Given the description of an element on the screen output the (x, y) to click on. 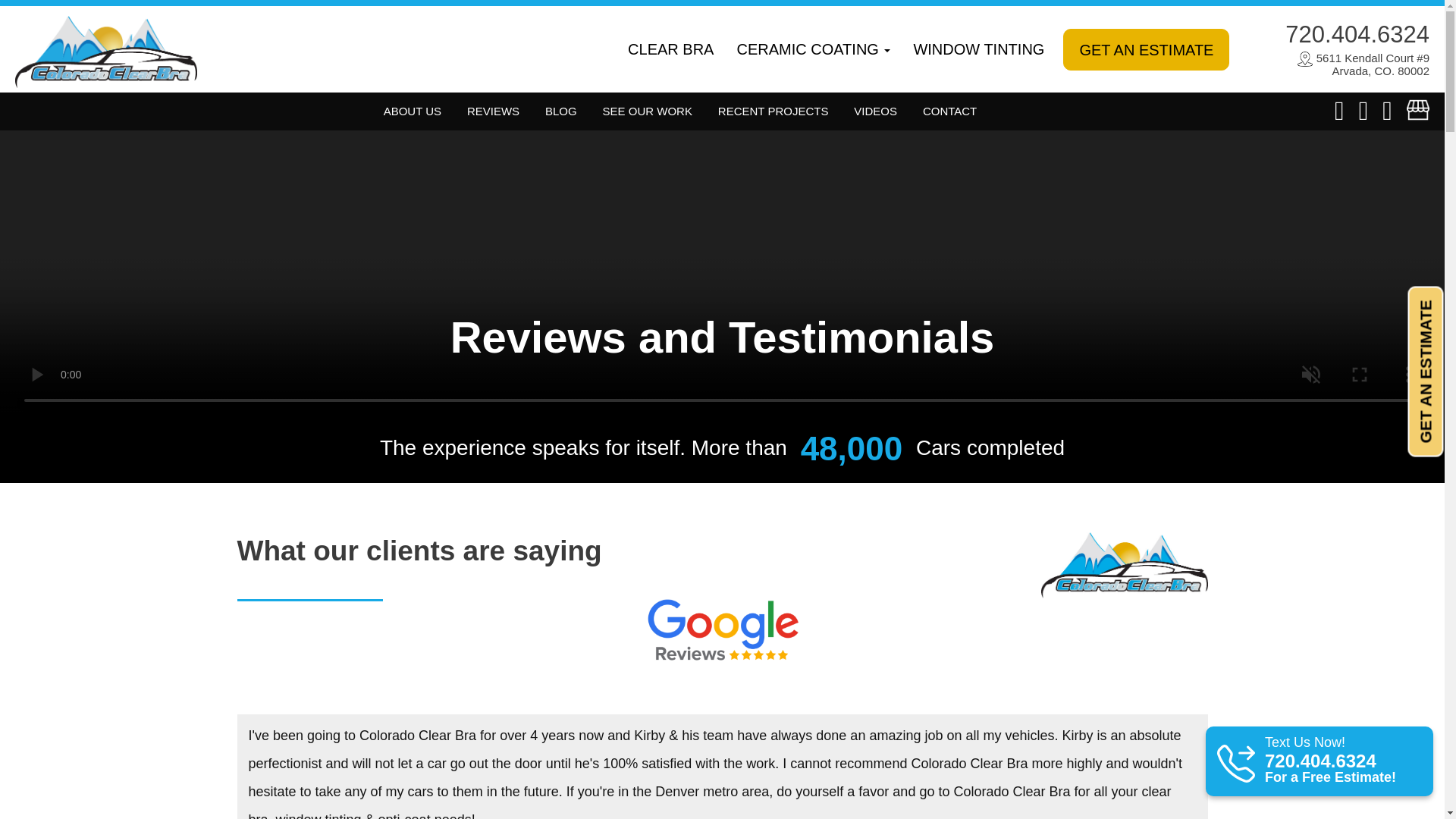
GET AN ESTIMATE (1145, 49)
Window Tinting Service (978, 49)
720.404.6324 (1357, 34)
CLEAR BRA (670, 49)
REVIEWS (493, 111)
WINDOW TINTING (978, 49)
SEE OUR WORK (647, 111)
CERAMIC COATING (813, 49)
BLOG (561, 111)
ABOUT US (412, 111)
VIDEOS (875, 111)
Home (105, 48)
RECENT PROJECTS (773, 111)
CONTACT (949, 111)
